Given the description of an element on the screen output the (x, y) to click on. 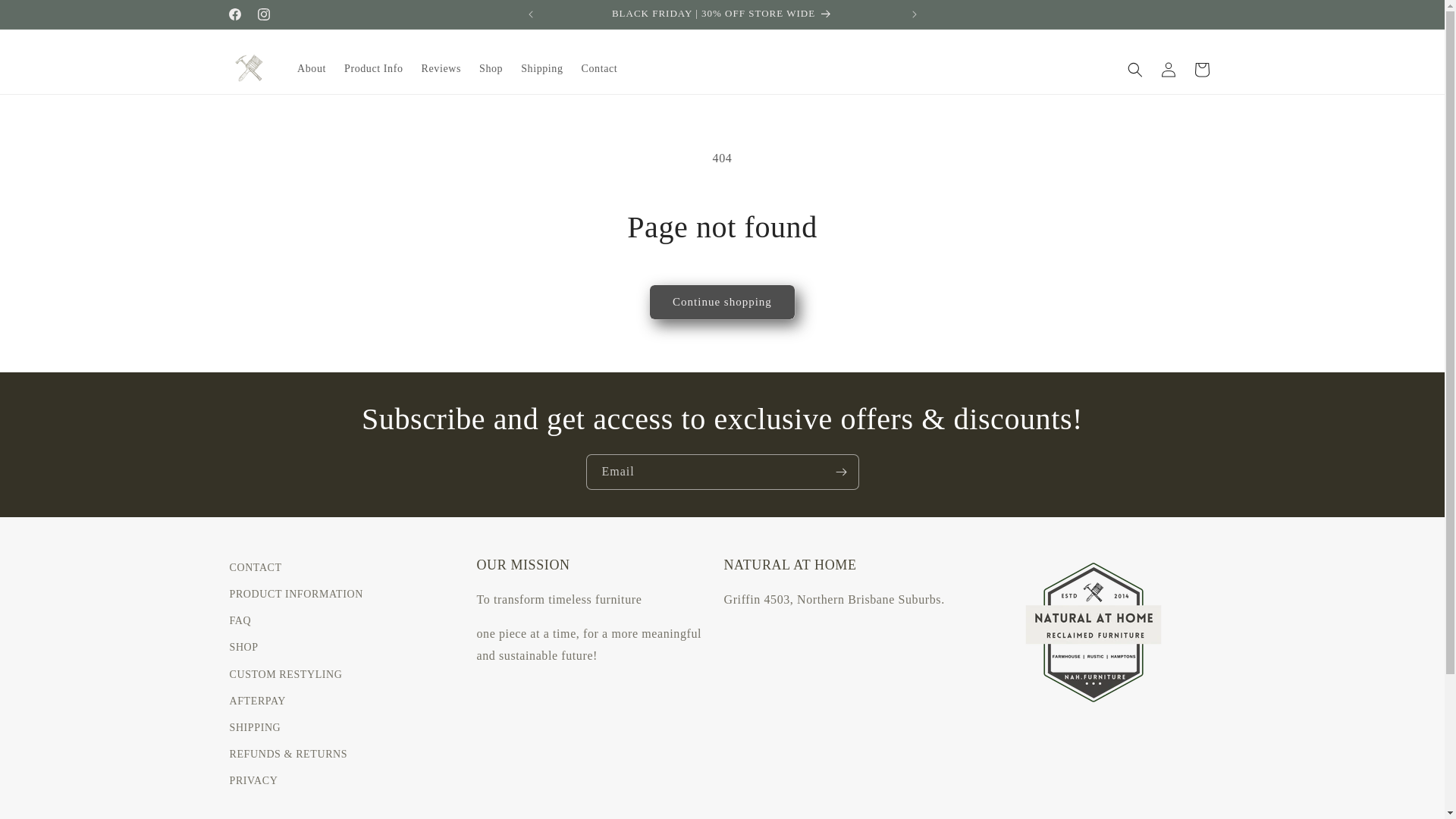
Reviews Element type: text (441, 68)
Contact Element type: text (599, 68)
REFUNDS & RETURNS Element type: text (288, 753)
Continue shopping Element type: text (721, 302)
Product Info Element type: text (373, 68)
Cart Element type: text (1200, 69)
BLACK FRIDAY | 30% OFF STORE WIDE Element type: text (722, 14)
Log in Element type: text (1167, 69)
FREE SHIPPING BRISBANE Element type: text (1075, 14)
AFTERPAY Element type: text (257, 700)
Instagram Element type: text (262, 14)
FAQ Element type: text (240, 620)
SHIPPING Element type: text (254, 727)
SHOP Element type: text (243, 646)
Shipping Element type: text (541, 68)
Facebook Element type: text (233, 14)
CUSTOM RESTYLING Element type: text (285, 674)
PRODUCT INFORMATION Element type: text (295, 593)
Shop Element type: text (490, 68)
About Element type: text (311, 68)
CONTACT Element type: text (255, 569)
PRIVACY Element type: text (253, 780)
